Given the description of an element on the screen output the (x, y) to click on. 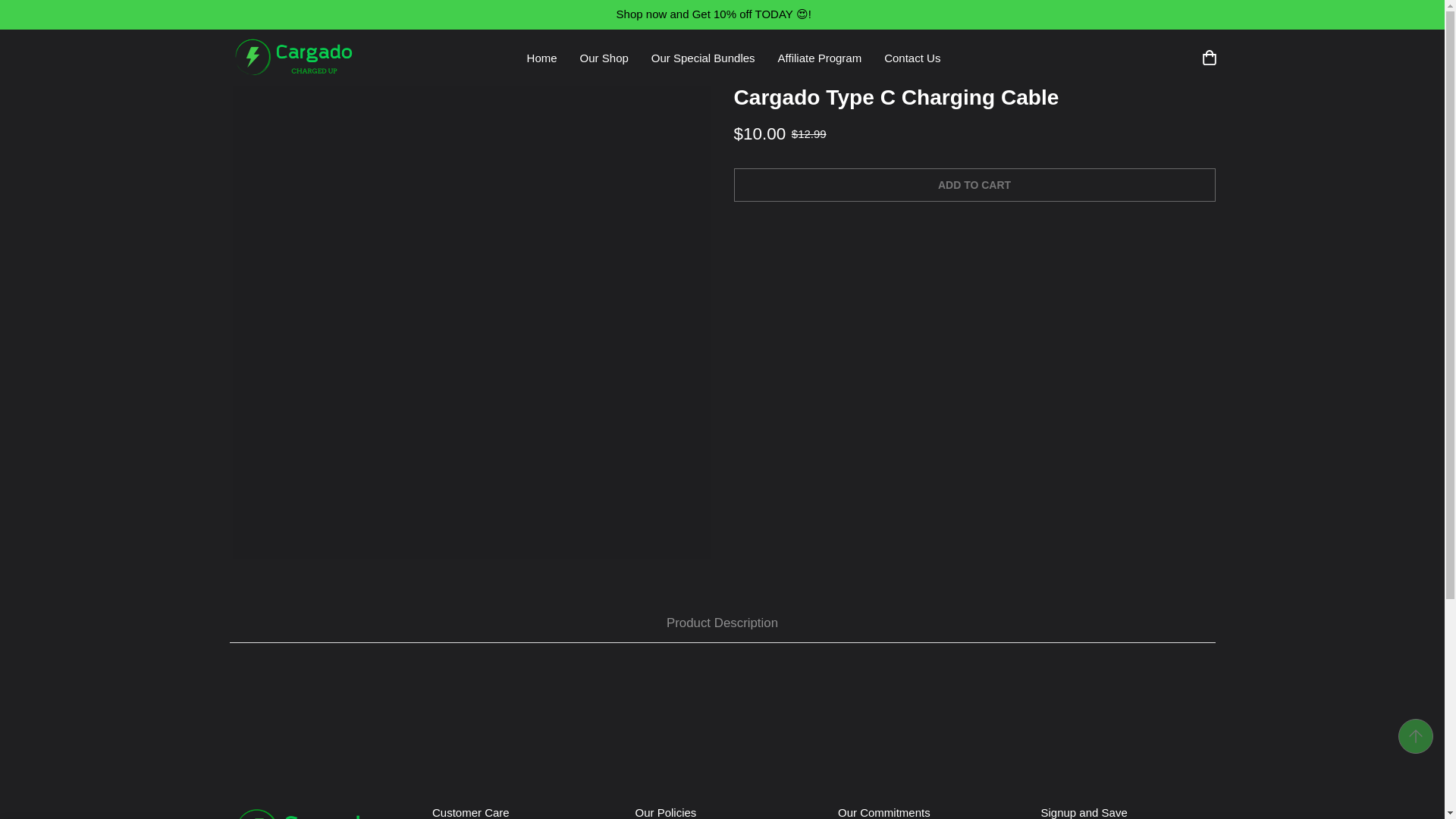
Power cables (655, 49)
Cargado Mobile Charging Solutions (293, 57)
Our Special Bundles (703, 58)
Home (542, 58)
Contact Us (912, 58)
Affiliate Program (820, 58)
ADD TO CART (974, 184)
Home (576, 49)
Our Shop (604, 58)
